Given the description of an element on the screen output the (x, y) to click on. 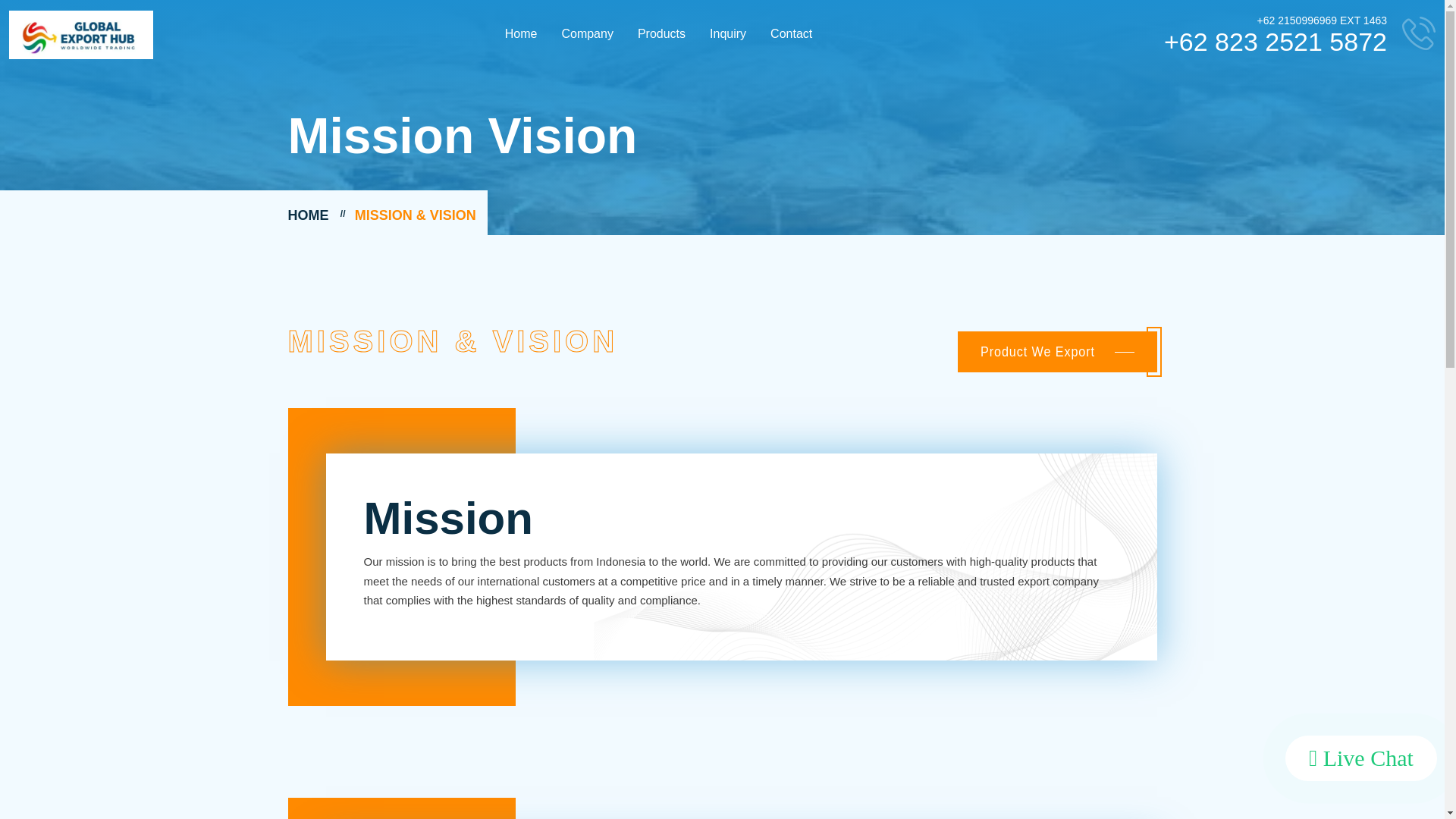
Products (661, 33)
Company (586, 33)
Inquiry (727, 33)
Products we Export from Indonesia (1057, 351)
HOME (308, 215)
Contact (791, 33)
Home (521, 33)
Product We Export (1057, 351)
Live Chat (1361, 758)
